Given the description of an element on the screen output the (x, y) to click on. 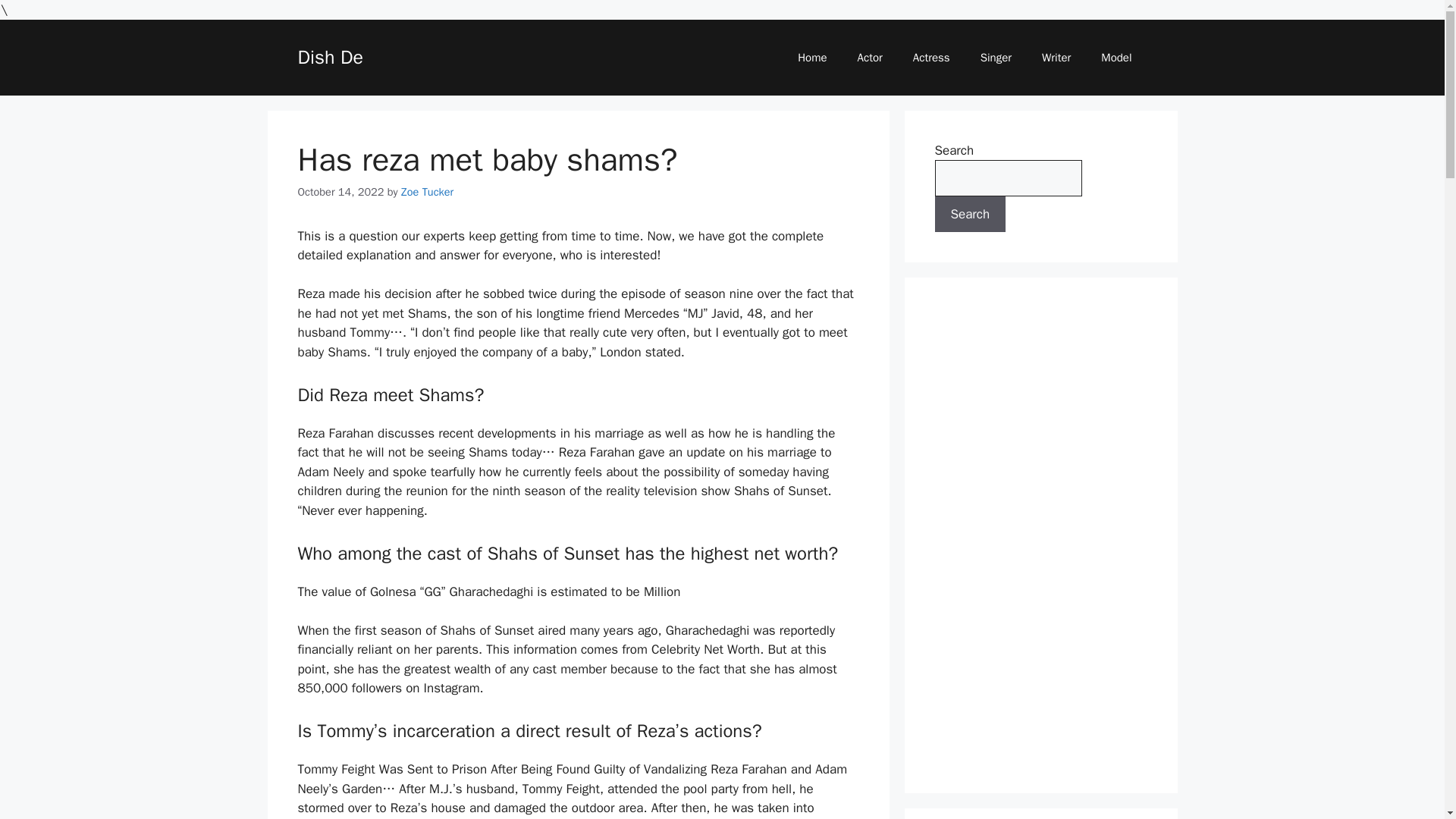
Writer (1056, 57)
Home (812, 57)
View all posts by Zoe Tucker (426, 192)
Actress (931, 57)
Singer (995, 57)
Search (970, 213)
Actor (870, 57)
Model (1116, 57)
Zoe Tucker (426, 192)
Dish De (329, 56)
